Given the description of an element on the screen output the (x, y) to click on. 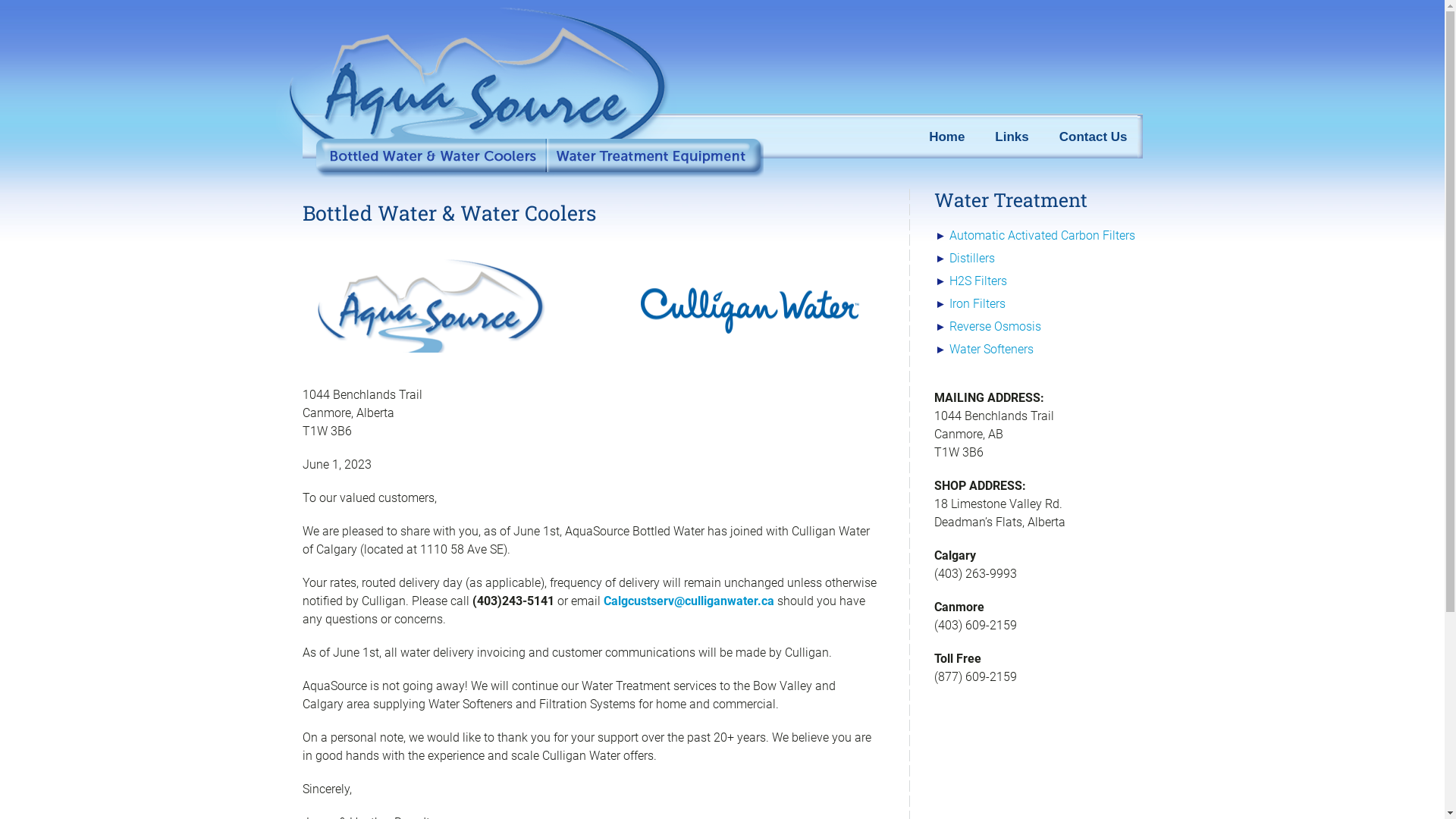
Skip to primary navigation Element type: text (0, 0)
Water Softeners Element type: text (991, 349)
Links Element type: text (1011, 136)
Automatic Activated Carbon Filters Element type: text (1042, 235)
Reverse Osmosis Element type: text (995, 326)
Distillers Element type: text (971, 258)
Calgcustserv@culliganwater.ca Element type: text (688, 600)
Iron Filters Element type: text (977, 303)
Contact Us Element type: text (1093, 136)
Home Element type: text (946, 136)
H2S Filters Element type: text (978, 280)
